Given the description of an element on the screen output the (x, y) to click on. 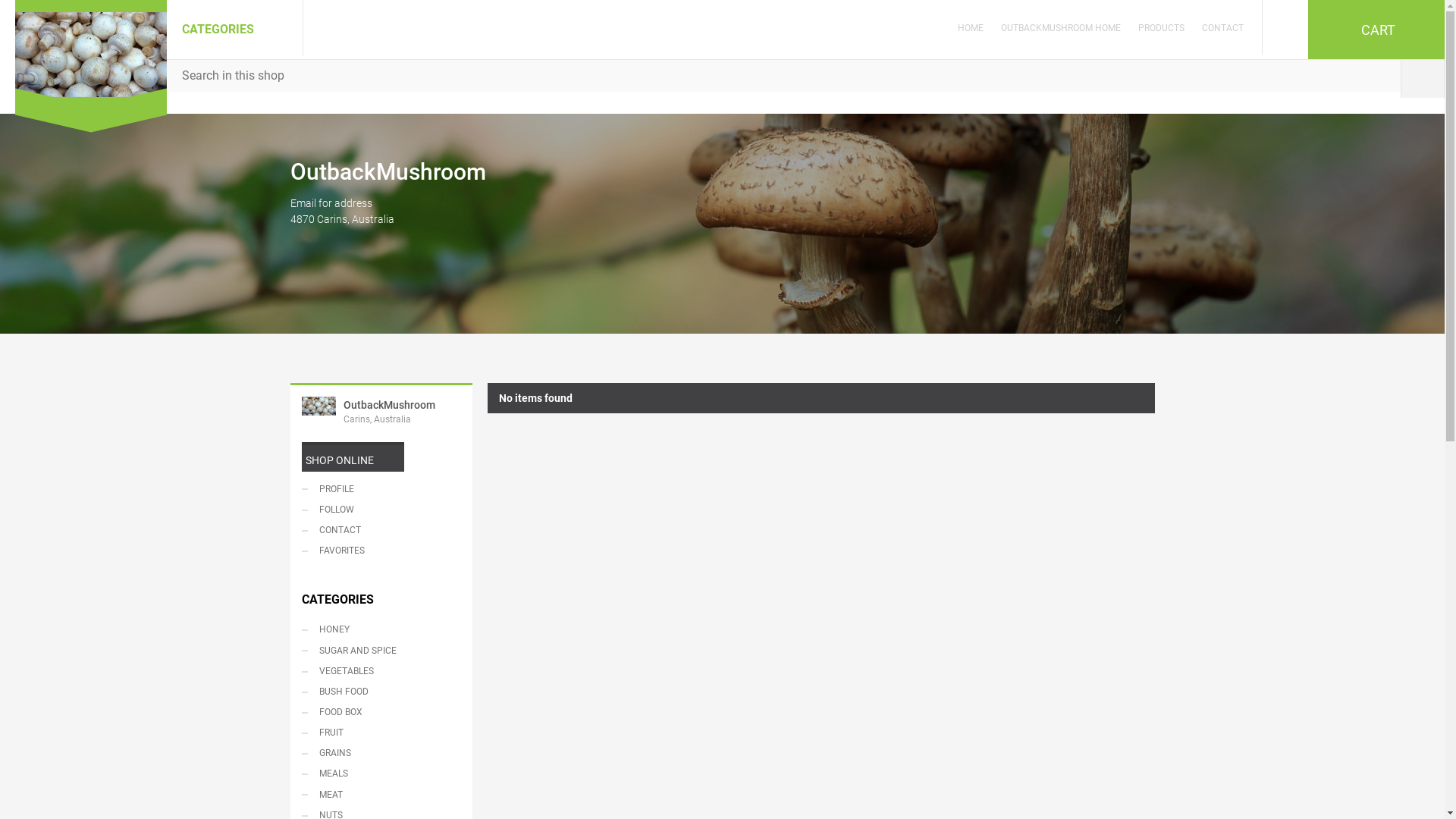
MEAT Element type: text (381, 794)
FRUIT Element type: text (381, 732)
VEGETABLES Element type: text (381, 671)
SHOP ONLINE Element type: text (352, 456)
SUGAR AND SPICE Element type: text (381, 650)
HOME Element type: text (974, 28)
HONEY Element type: text (381, 629)
FOOD BOX Element type: text (381, 712)
MEALS Element type: text (381, 773)
OUTBACKMUSHROOM HOME Element type: text (1060, 28)
GRAINS Element type: text (381, 753)
CART Element type: text (1376, 29)
CATEGORIES Element type: text (234, 28)
BUSH FOOD Element type: text (381, 691)
PRODUCTS Element type: text (1161, 28)
FAVORITES Element type: text (381, 550)
CONTACT Element type: text (1226, 28)
PROFILE Element type: text (381, 489)
FOLLOW Element type: text (381, 509)
CONTACT Element type: text (381, 530)
